Given the description of an element on the screen output the (x, y) to click on. 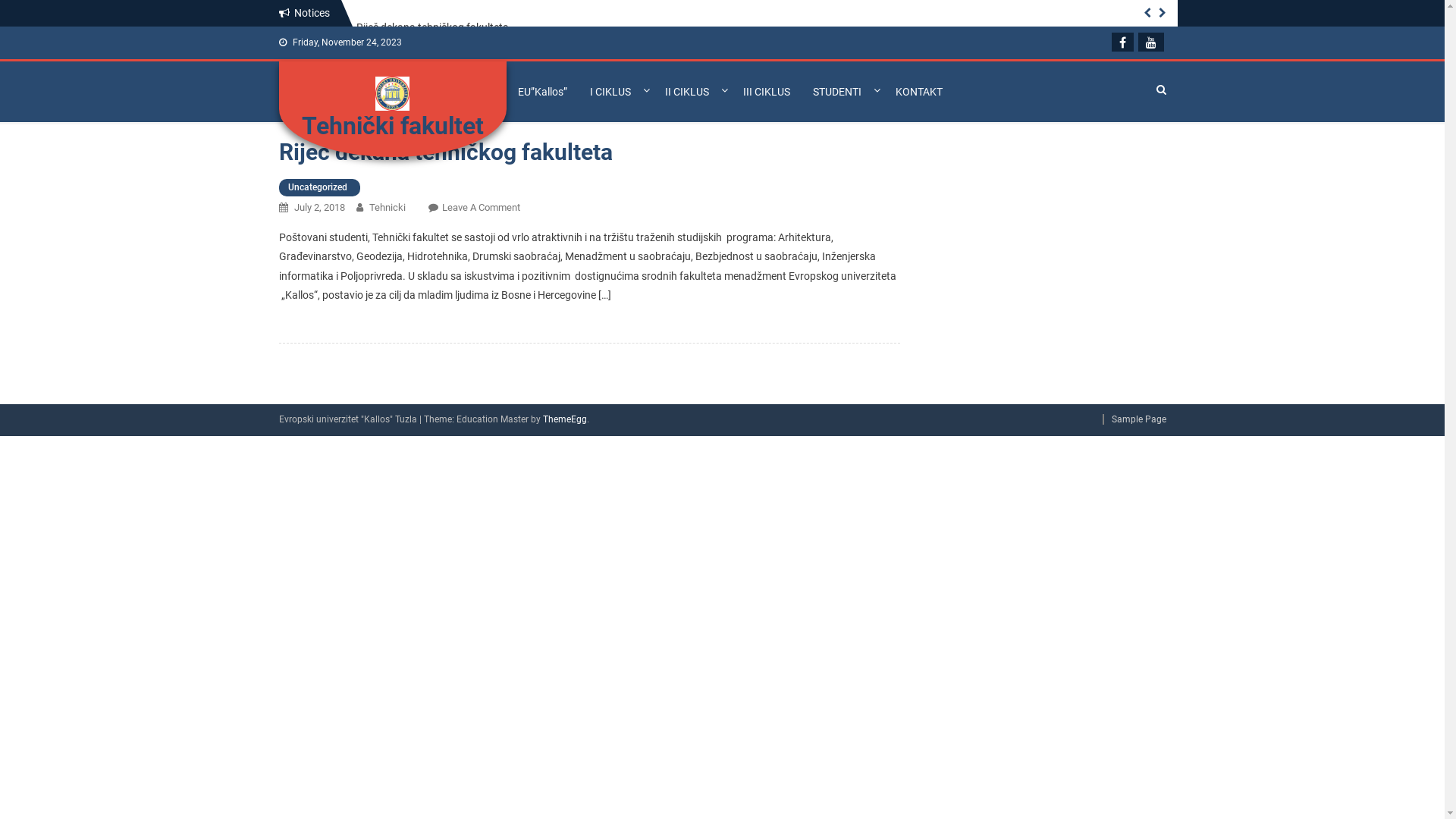
July 2, 2018 Element type: text (319, 207)
Search Element type: text (1047, 209)
II CIKLUS Element type: text (692, 91)
Sample Page Element type: text (1134, 419)
I CIKLUS Element type: text (614, 91)
ThemeEgg Element type: text (564, 419)
Tehnicki Element type: text (386, 207)
KONTAKT Element type: text (918, 91)
Uncategorized Element type: text (317, 187)
STUDENTI Element type: text (841, 91)
III CIKLUS Element type: text (765, 91)
